Given the description of an element on the screen output the (x, y) to click on. 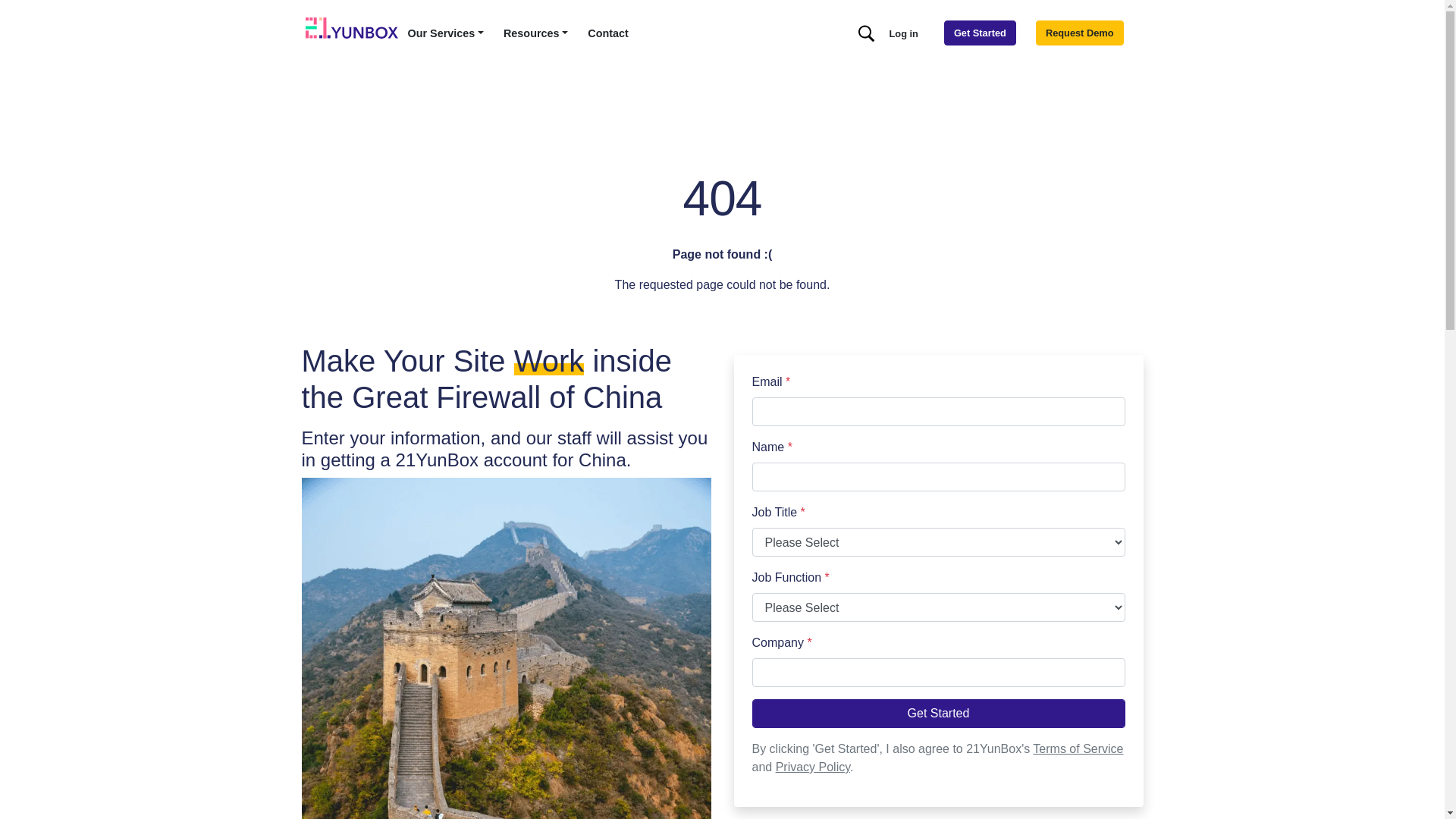
Terms of Service Element type: text (1077, 748)
Our Services Element type: text (445, 33)
Contact Element type: text (607, 33)
Get Started Element type: text (980, 32)
Resources Element type: text (535, 33)
Request Demo Element type: text (1079, 32)
Log in Element type: text (903, 33)
Get Started Element type: text (938, 713)
Privacy Policy Element type: text (812, 766)
